Given the description of an element on the screen output the (x, y) to click on. 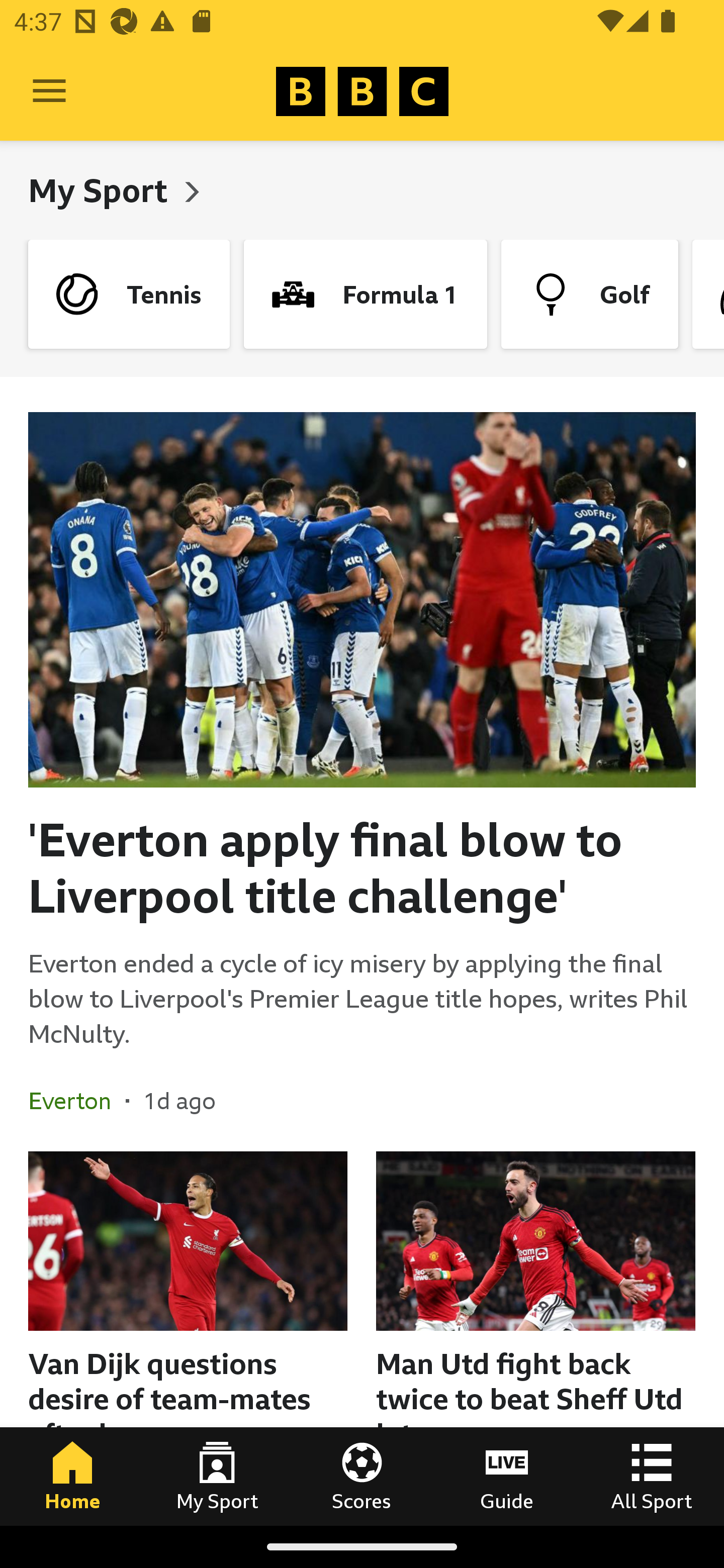
Open Menu (49, 91)
My Sport (101, 190)
Everton In the section Everton (76, 1100)
My Sport (216, 1475)
Scores (361, 1475)
Guide (506, 1475)
All Sport (651, 1475)
